Given the description of an element on the screen output the (x, y) to click on. 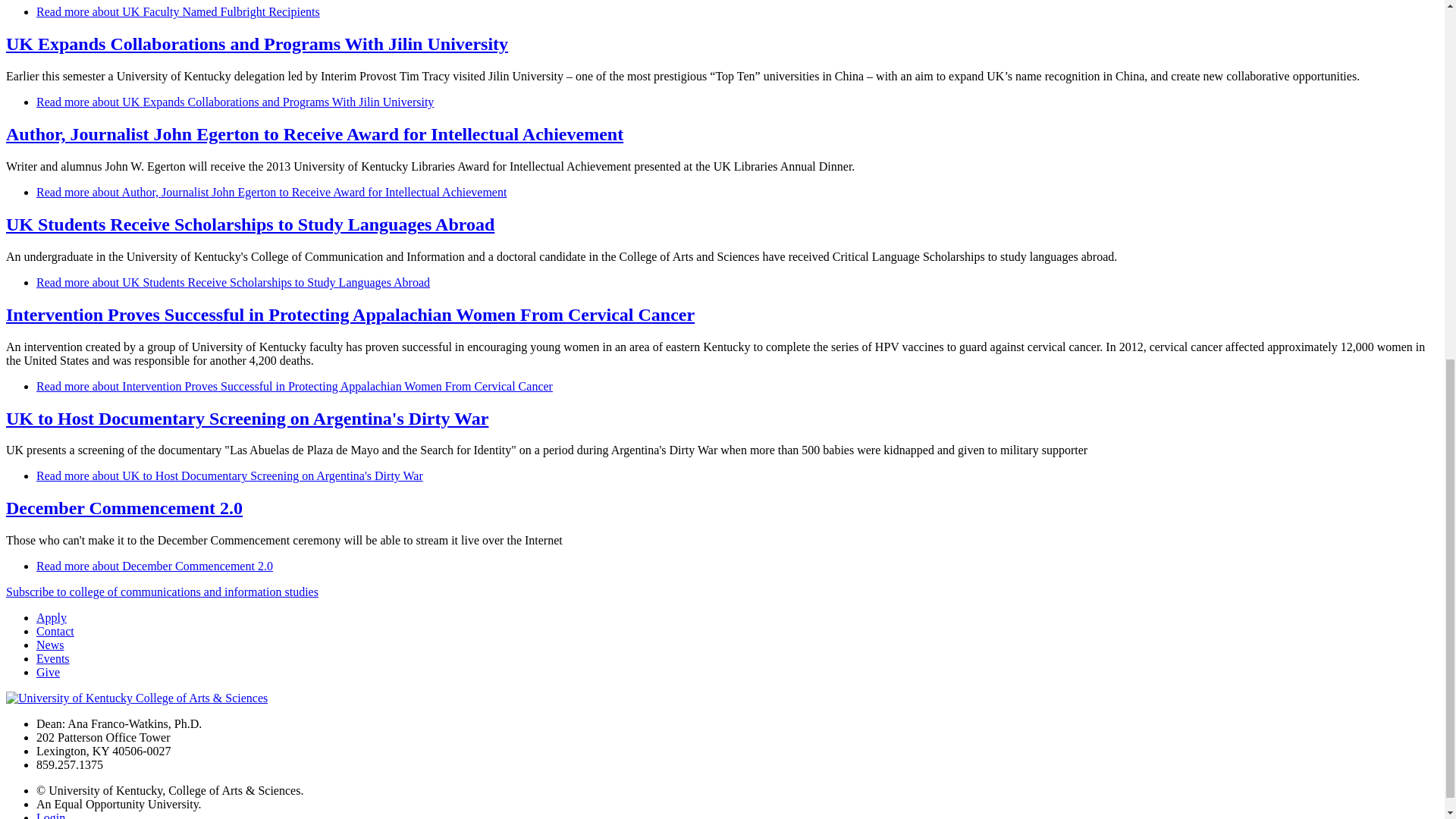
UK Faculty Named Fulbright Recipients (178, 11)
UK Students Receive Scholarships to Study Languages Abroad (232, 282)
UK Students Receive Scholarships to Study Languages Abroad (250, 224)
December Commencement 2.0  (154, 565)
UK Expands Collaborations and Programs With Jilin University (234, 101)
